Given the description of an element on the screen output the (x, y) to click on. 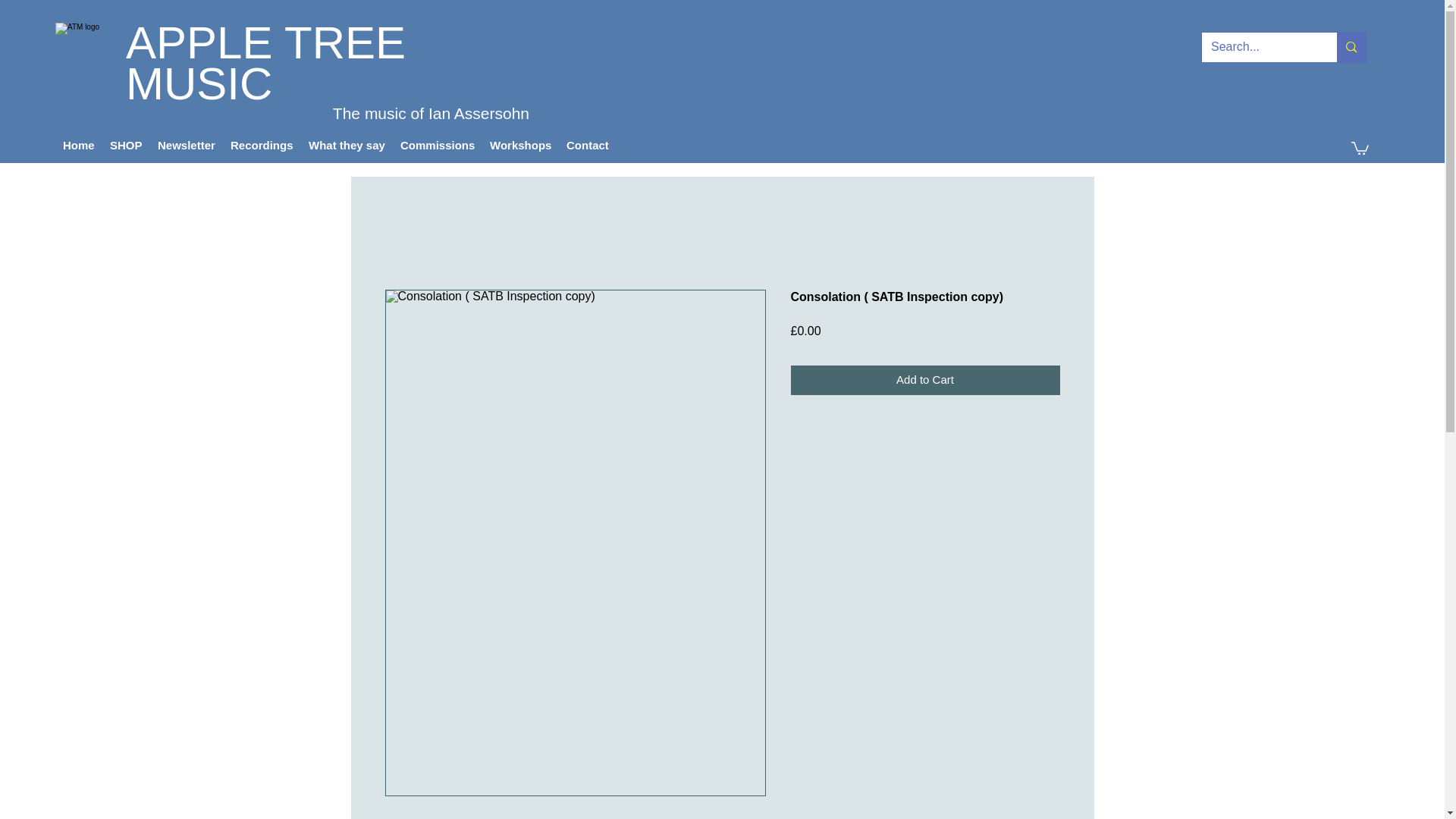
Add to Cart (924, 379)
ATM logo (82, 44)
What they say (347, 144)
Home (78, 144)
Workshops (520, 144)
Newsletter (185, 144)
Commissions (437, 144)
Contact (587, 144)
